Given the description of an element on the screen output the (x, y) to click on. 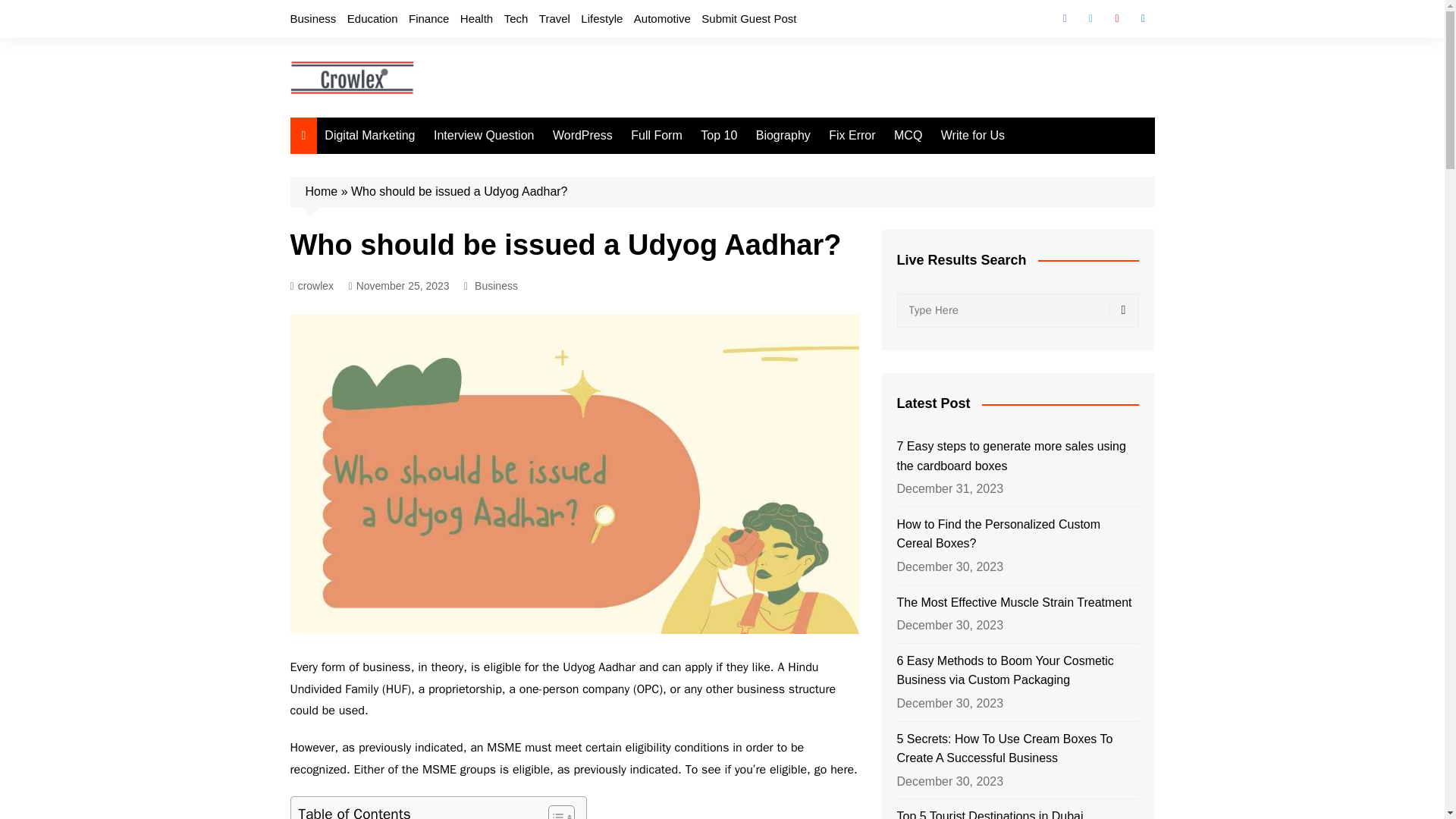
Lifestyle (601, 18)
WordPress (582, 135)
crowlex (311, 285)
Top 10 (718, 135)
Facebook (1063, 18)
Tech (515, 18)
MCQ (908, 135)
Home (320, 191)
Submit Guest Post (748, 18)
Business (496, 285)
Education (372, 18)
Full Form (656, 135)
Fix Error (851, 135)
Interview Question (483, 135)
Health (476, 18)
